Given the description of an element on the screen output the (x, y) to click on. 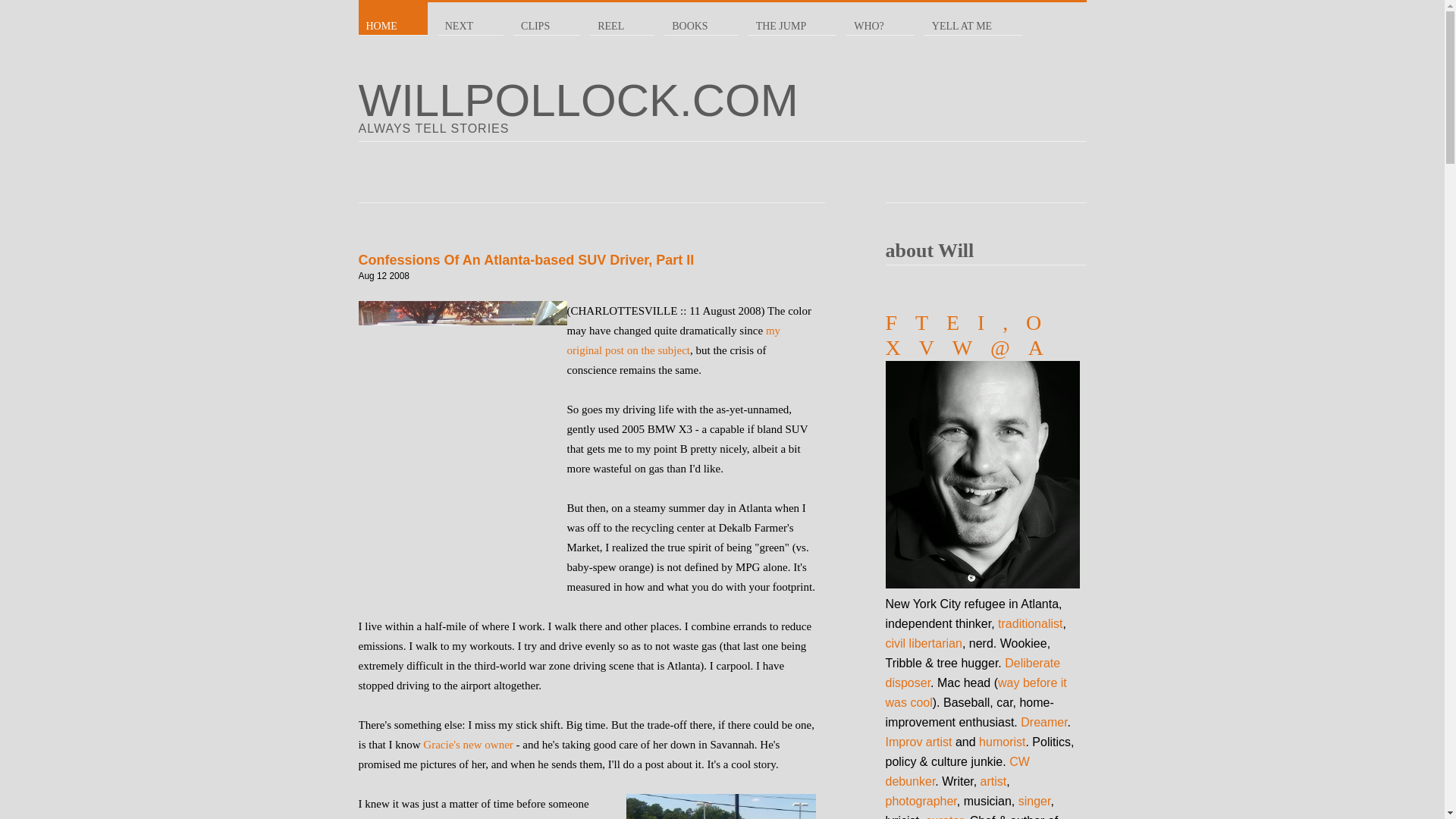
HOME (392, 17)
WILLPOLLOCK.COM (722, 106)
BOOKS (700, 17)
Confessions Of An Atlanta-based SUV Driver, Part II (526, 259)
REEL (621, 17)
CLIPS (546, 17)
NEXT (470, 17)
YELL AT ME (973, 17)
THE JUMP (792, 17)
my original post on the subject (673, 340)
